Given the description of an element on the screen output the (x, y) to click on. 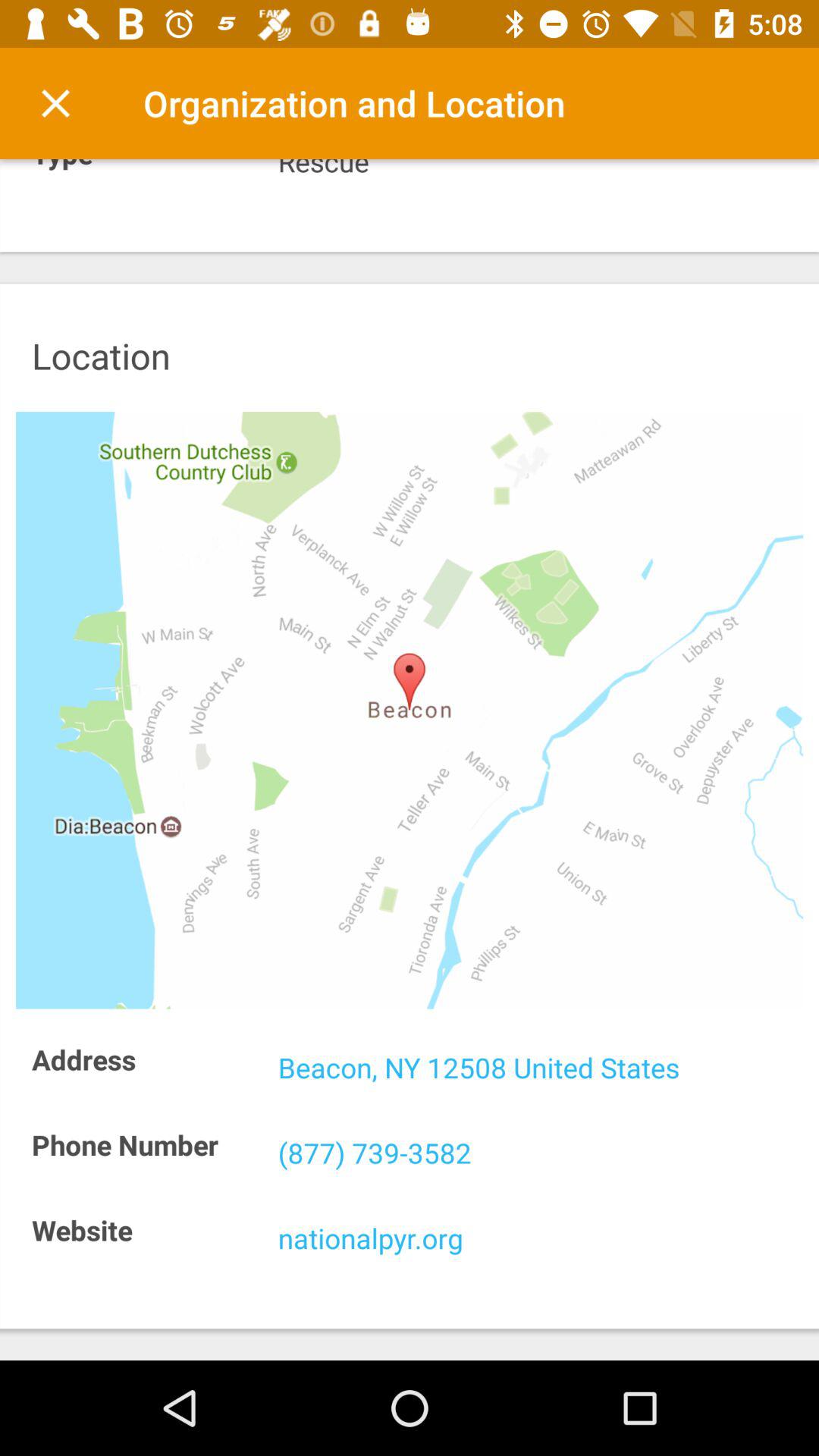
tap the icon next to organization and location item (55, 103)
